Given the description of an element on the screen output the (x, y) to click on. 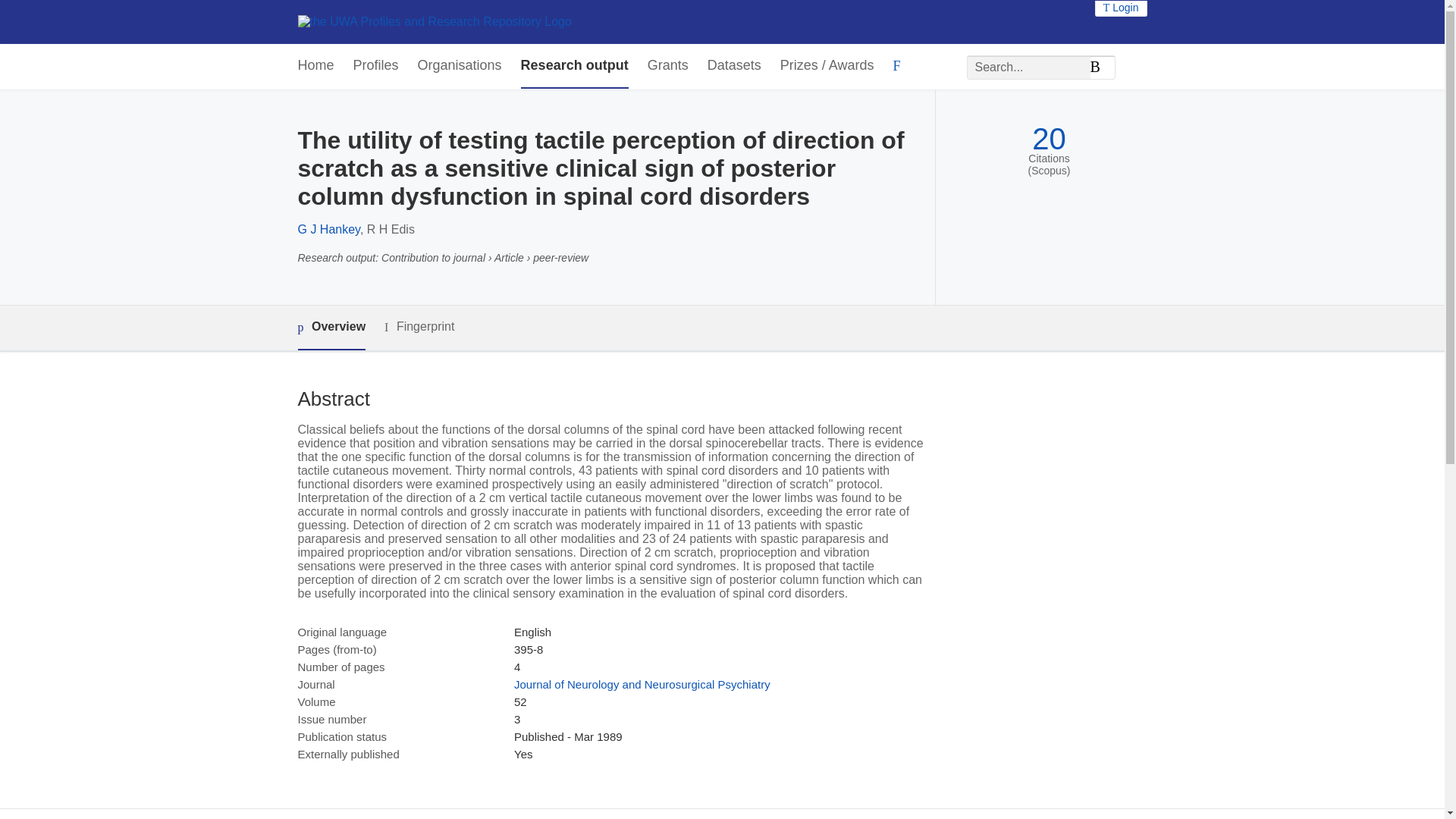
Organisations (459, 66)
G J Hankey (328, 228)
Datasets (734, 66)
Overview (331, 327)
Fingerprint (419, 326)
the UWA Profiles and Research Repository Home (433, 21)
Research output (574, 66)
Login (1121, 7)
Profiles (375, 66)
20 (1048, 139)
Grants (667, 66)
Journal of Neurology and Neurosurgical Psychiatry (641, 684)
